Given the description of an element on the screen output the (x, y) to click on. 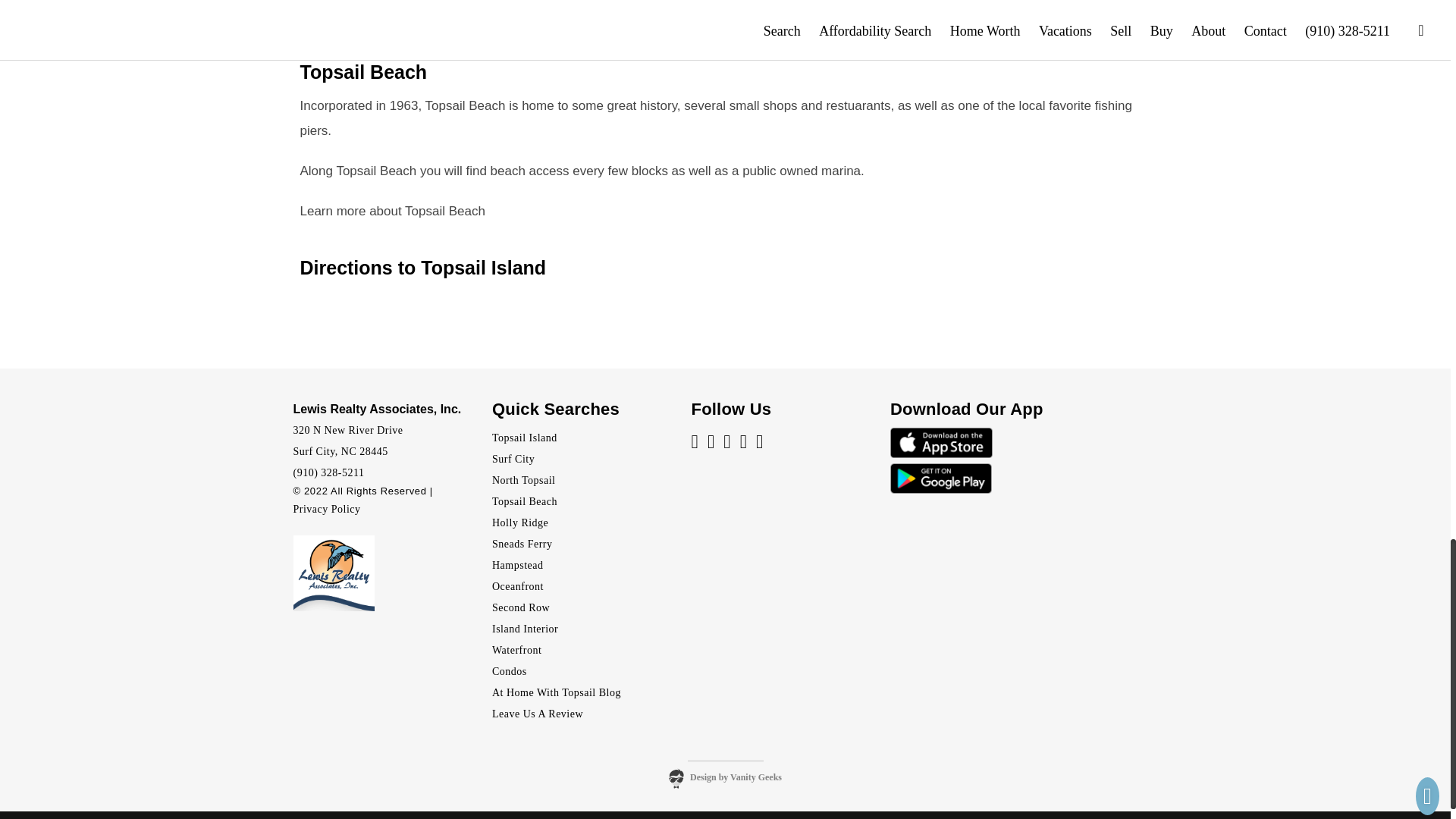
Surf City, NC 28445 (339, 451)
topsail beach real estate (524, 501)
topsail island real estate (524, 437)
Leave Us A Google Review (537, 713)
Privacy Policy (325, 509)
north topsail beach real estate (523, 480)
At Home With Topsail Real Estate Blog (556, 692)
holly ridge real estate (520, 522)
Topsail Island (524, 437)
topsail condos for sale (509, 671)
